Given the description of an element on the screen output the (x, y) to click on. 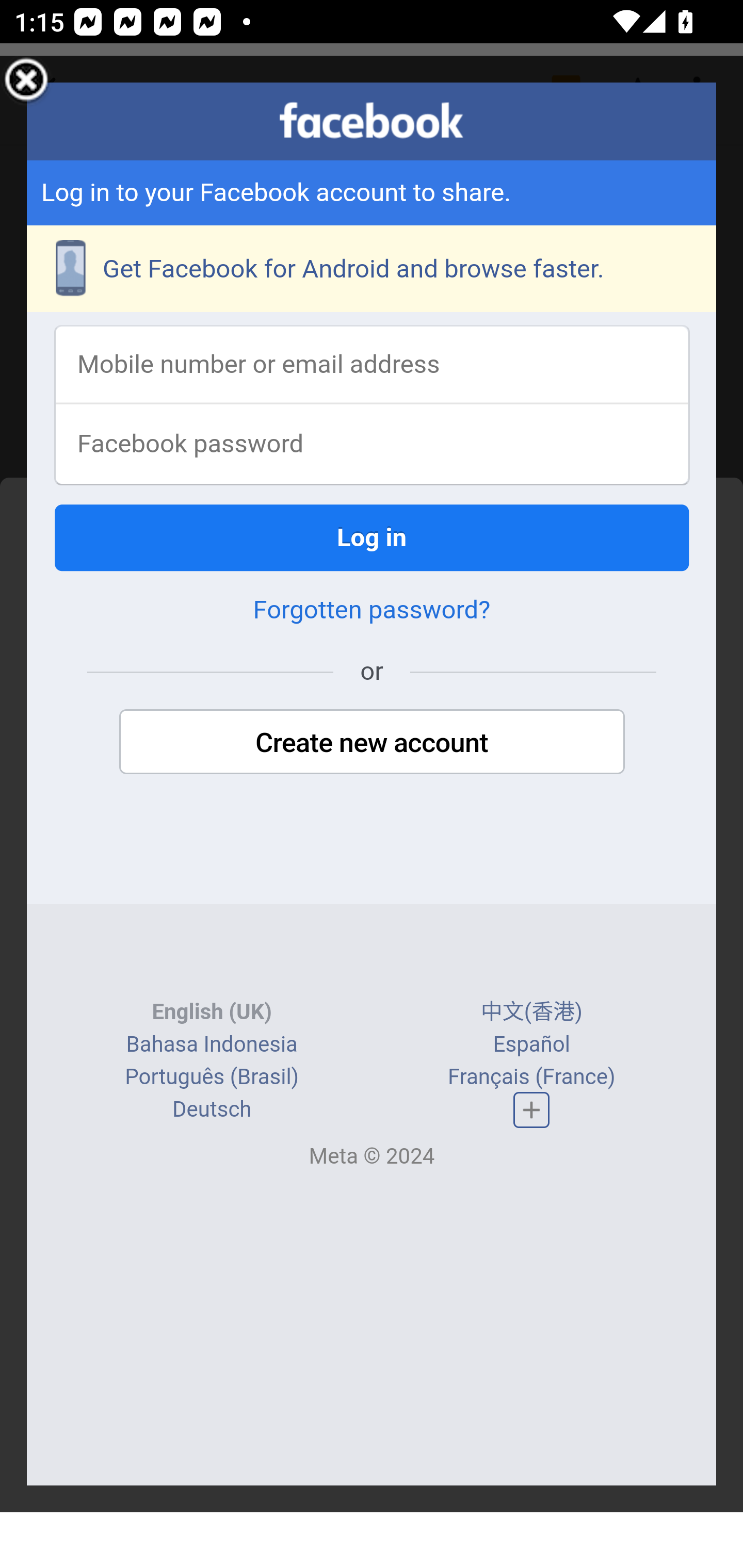
facebook (372, 121)
Get Facebook for Android and browse faster. (372, 270)
Log in (372, 538)
Forgotten password? (371, 611)
Create new account (371, 743)
中文(香港) (531, 1013)
Bahasa Indonesia (210, 1044)
Español (530, 1044)
Português (Brasil) (211, 1077)
Français (France) (530, 1077)
Complete list of languages (531, 1110)
Deutsch (211, 1110)
